Given the description of an element on the screen output the (x, y) to click on. 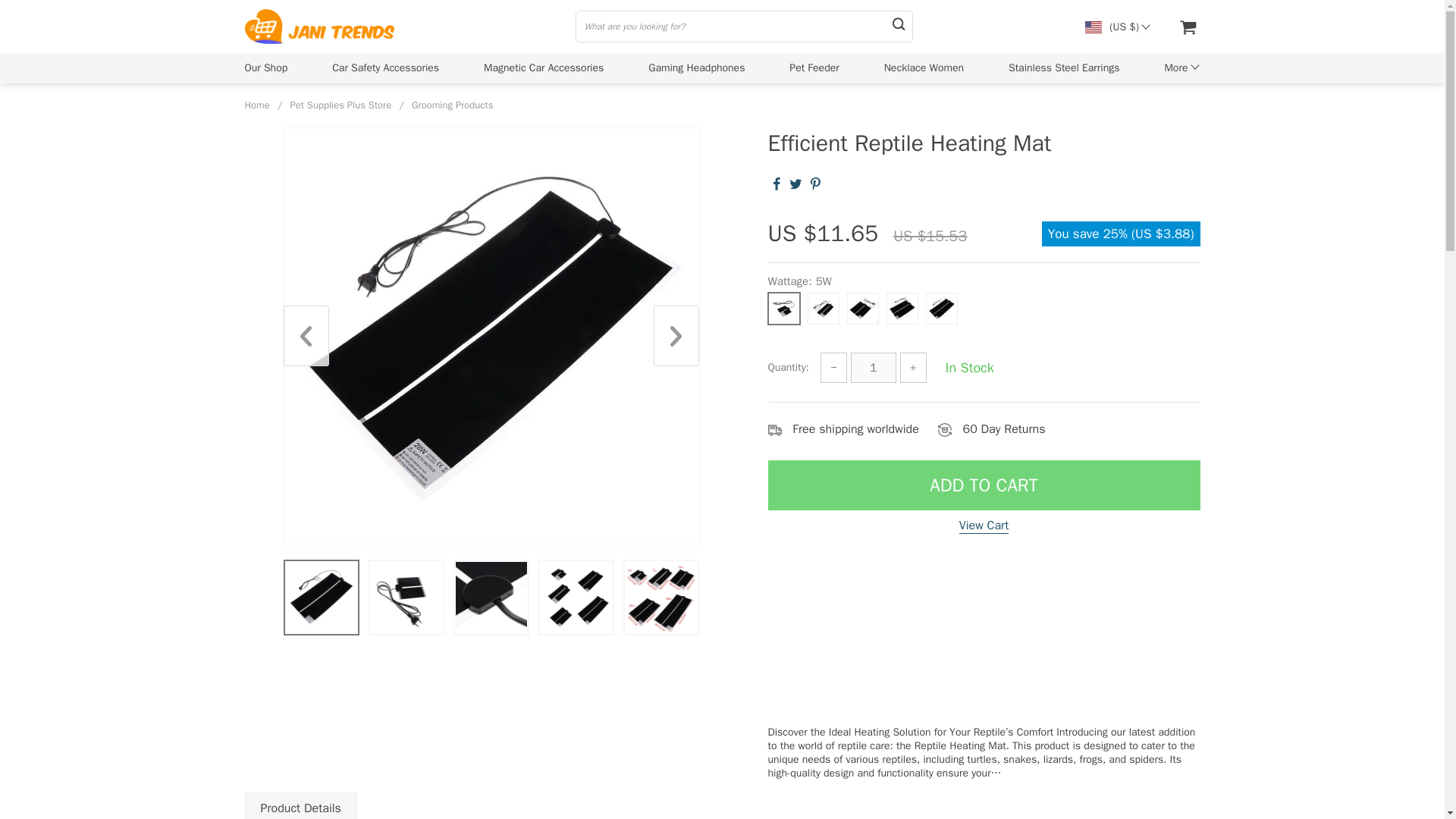
Our Shop (265, 67)
PayPal (983, 631)
6128-1cf7cb.jpg (405, 597)
6128-98d1f0.jpg (659, 597)
6128-2c3cec.jpg (489, 597)
Gaming Headphones (695, 67)
Car Safety Accessories (385, 67)
Wattage:5W (983, 303)
Magnetic Car Accessories (543, 67)
7W (822, 308)
Home (256, 105)
6128-0c0f8b.jpg (575, 597)
Stainless Steel Earrings (1064, 67)
Grooming Products (452, 104)
14W (861, 308)
